Given the description of an element on the screen output the (x, y) to click on. 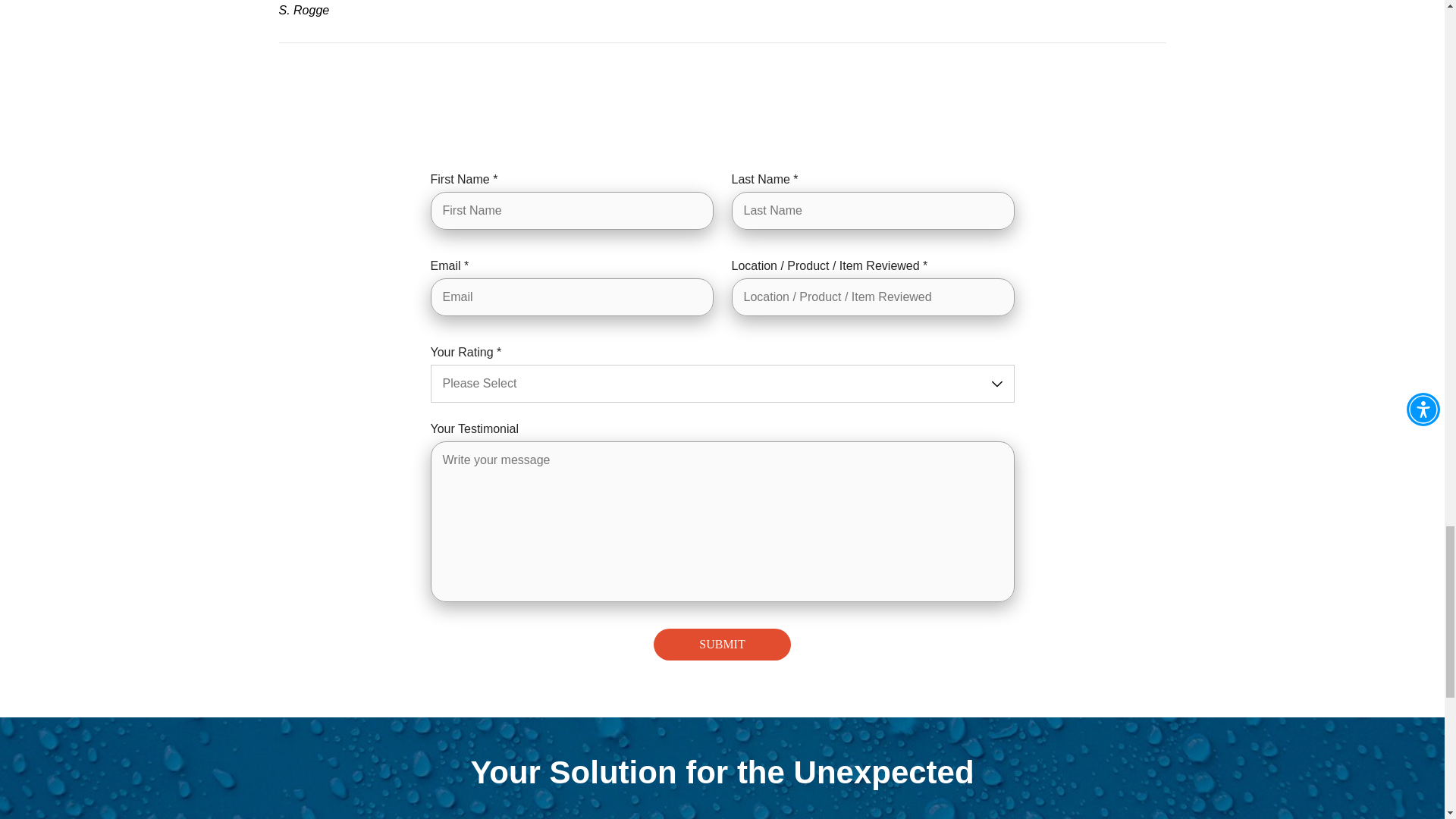
Submit (721, 644)
